Given the description of an element on the screen output the (x, y) to click on. 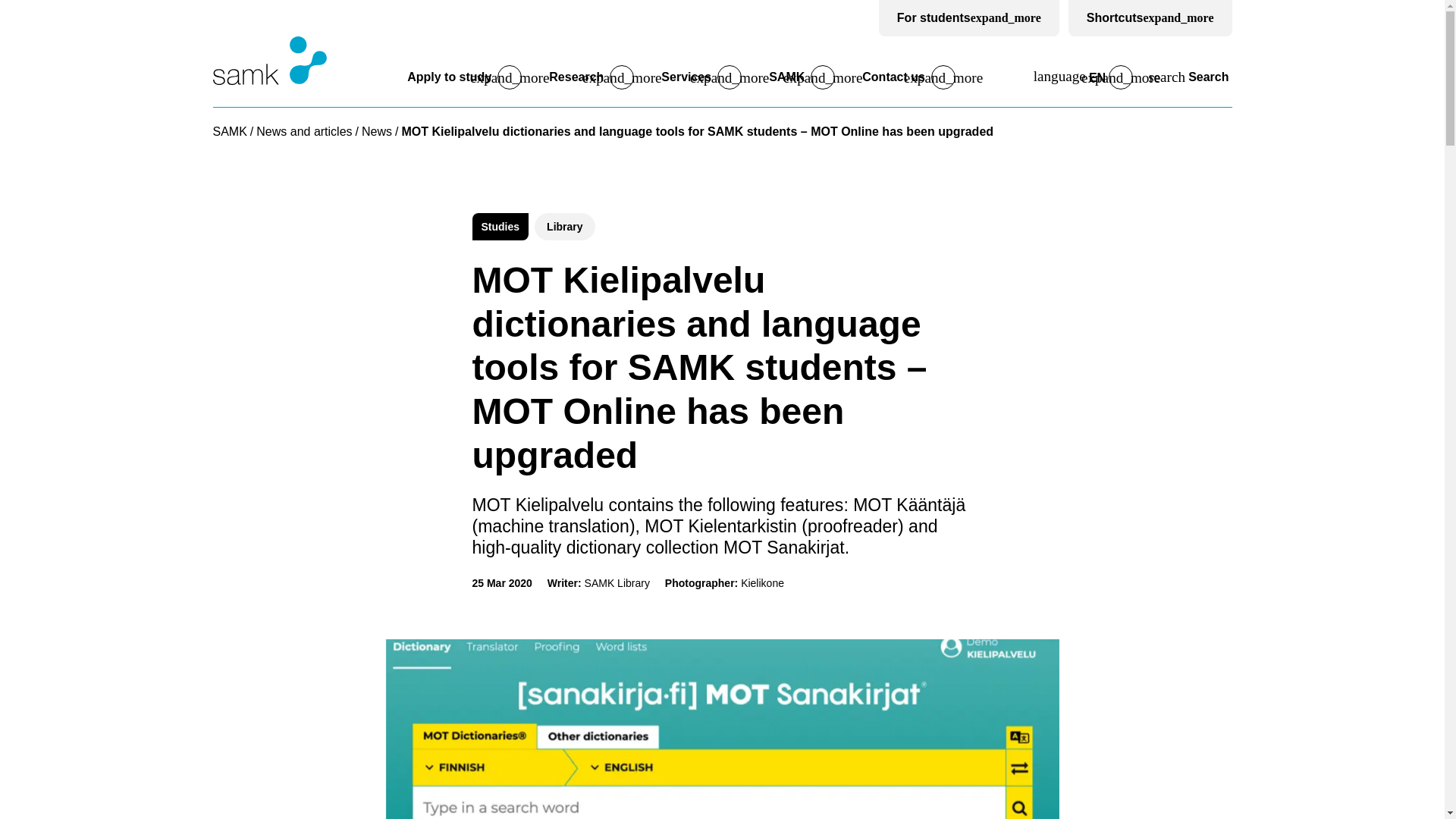
Research (576, 77)
Services (686, 77)
Apply to study (449, 77)
SAMK (786, 77)
